Given the description of an element on the screen output the (x, y) to click on. 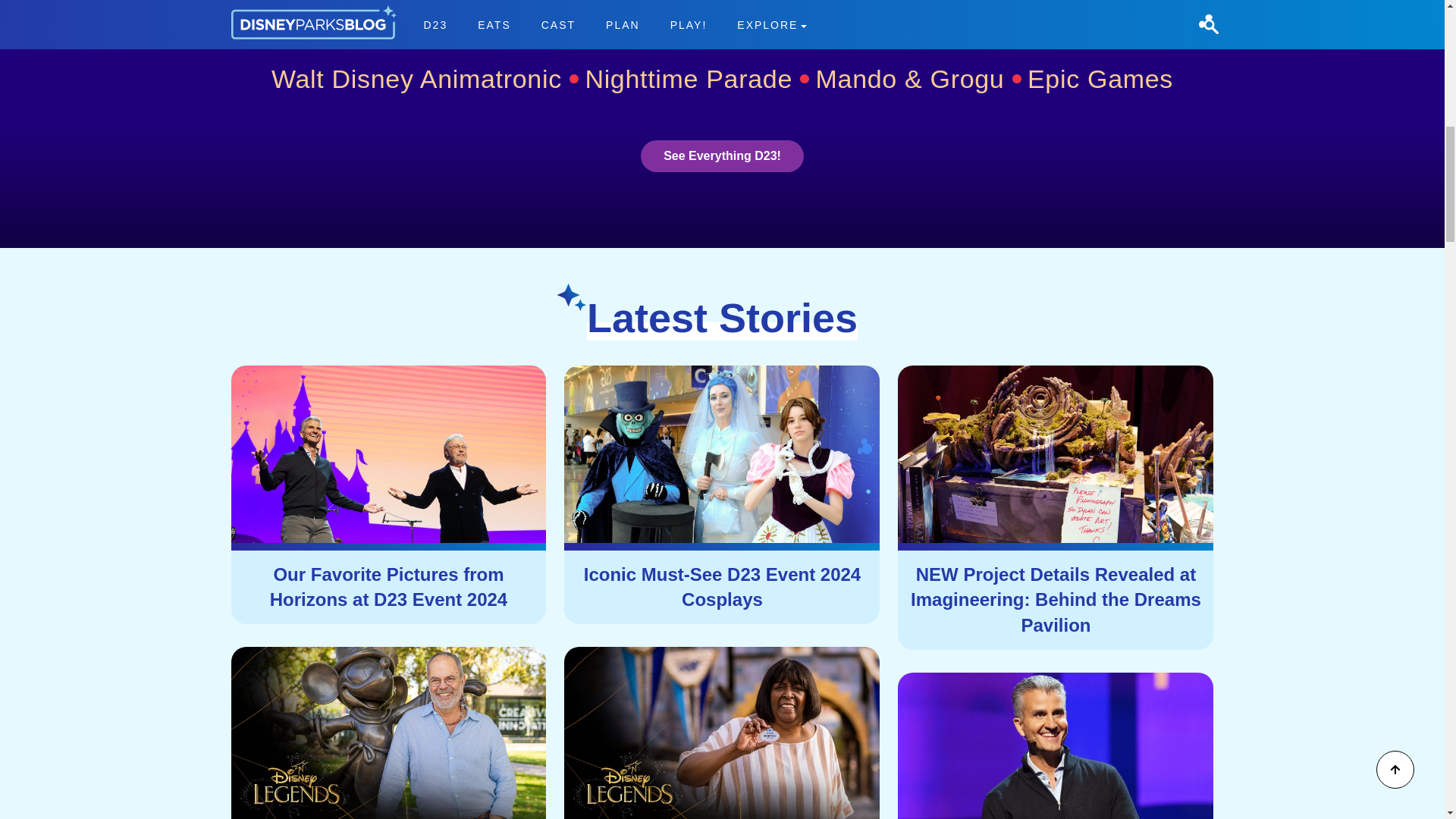
Tropical Americas (834, 18)
Walt Disney Animatronic (424, 78)
See Everything D23! (721, 155)
Lion King Ride (809, 18)
Epic Games (1100, 78)
Nighttime Parade (697, 78)
